Given the description of an element on the screen output the (x, y) to click on. 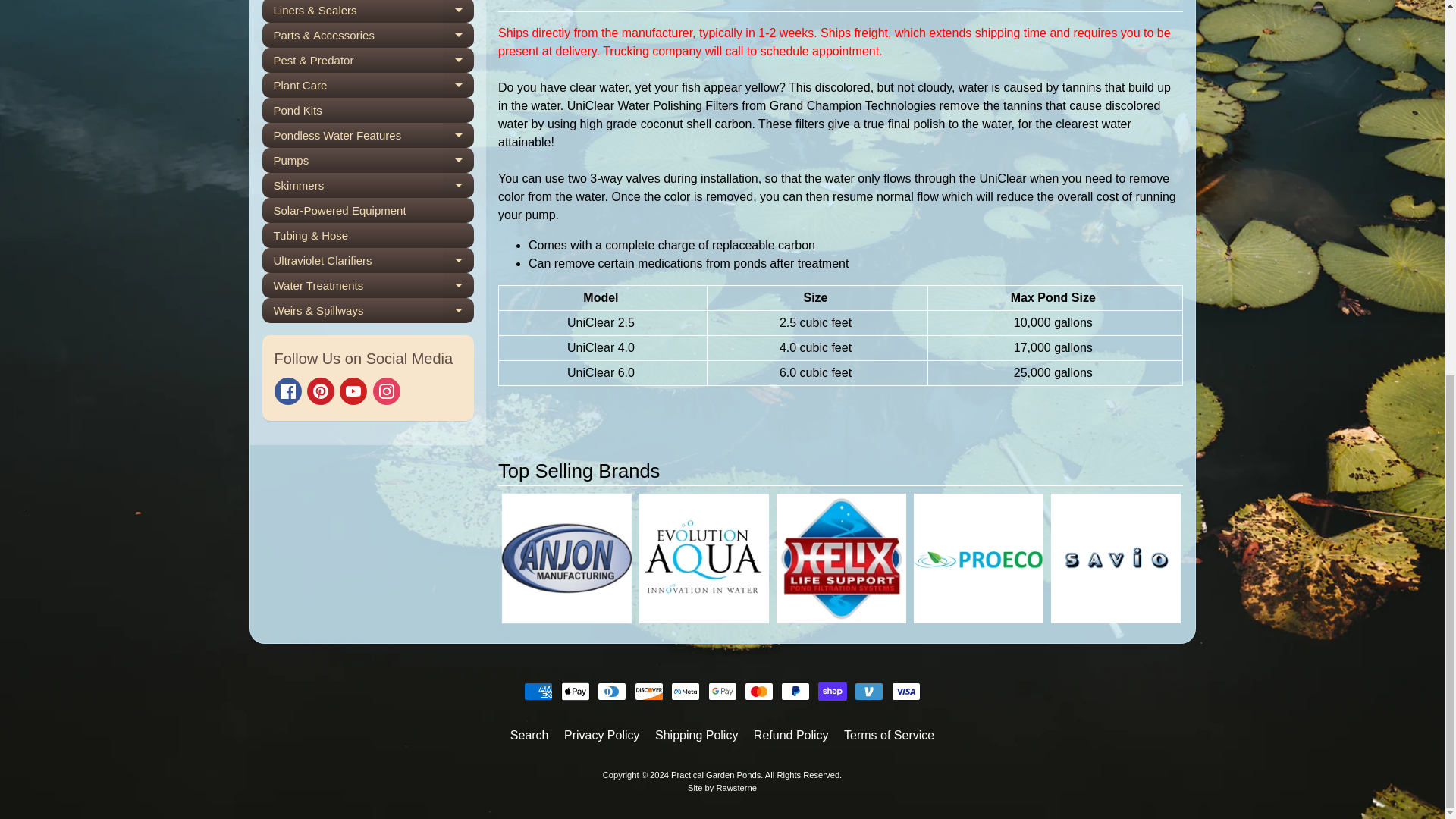
Meta Pay (685, 691)
Top Selling Brands (839, 471)
Facebook (288, 390)
Shopify theme by Rawsterne (722, 787)
Instagram (386, 390)
Visa (905, 691)
Discover (648, 691)
Google Pay (721, 691)
American Express (538, 691)
Diners Club (611, 691)
Shop Pay (832, 691)
Apple Pay (574, 691)
Pinterest (320, 390)
Mastercard (758, 691)
Youtube (352, 390)
